Given the description of an element on the screen output the (x, y) to click on. 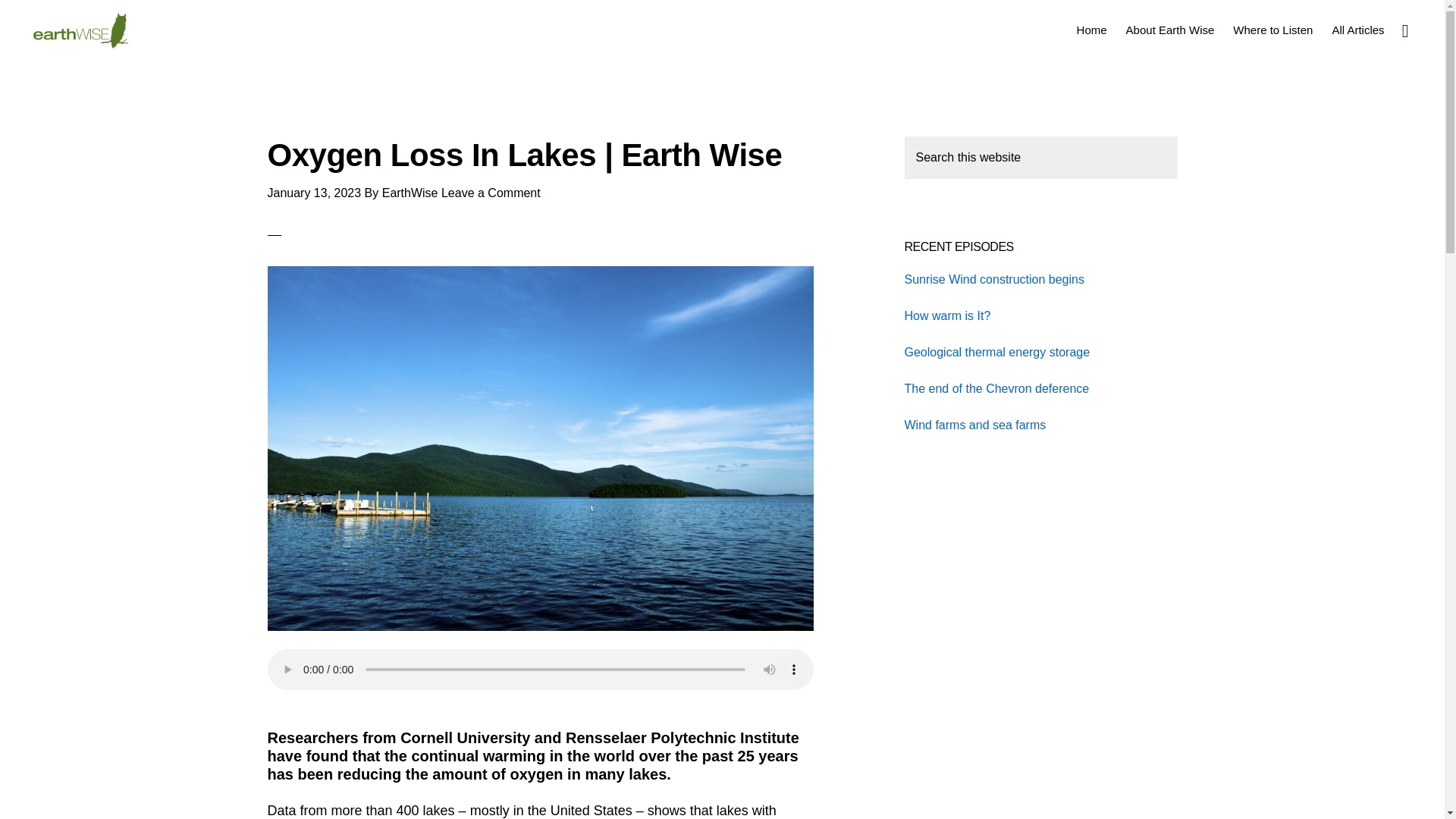
Leave a Comment (490, 192)
EarthWise (409, 192)
Where to Listen (1272, 29)
About Earth Wise (1170, 29)
EARTH WISE (80, 30)
Home (1091, 29)
All Articles (1357, 29)
